Given the description of an element on the screen output the (x, y) to click on. 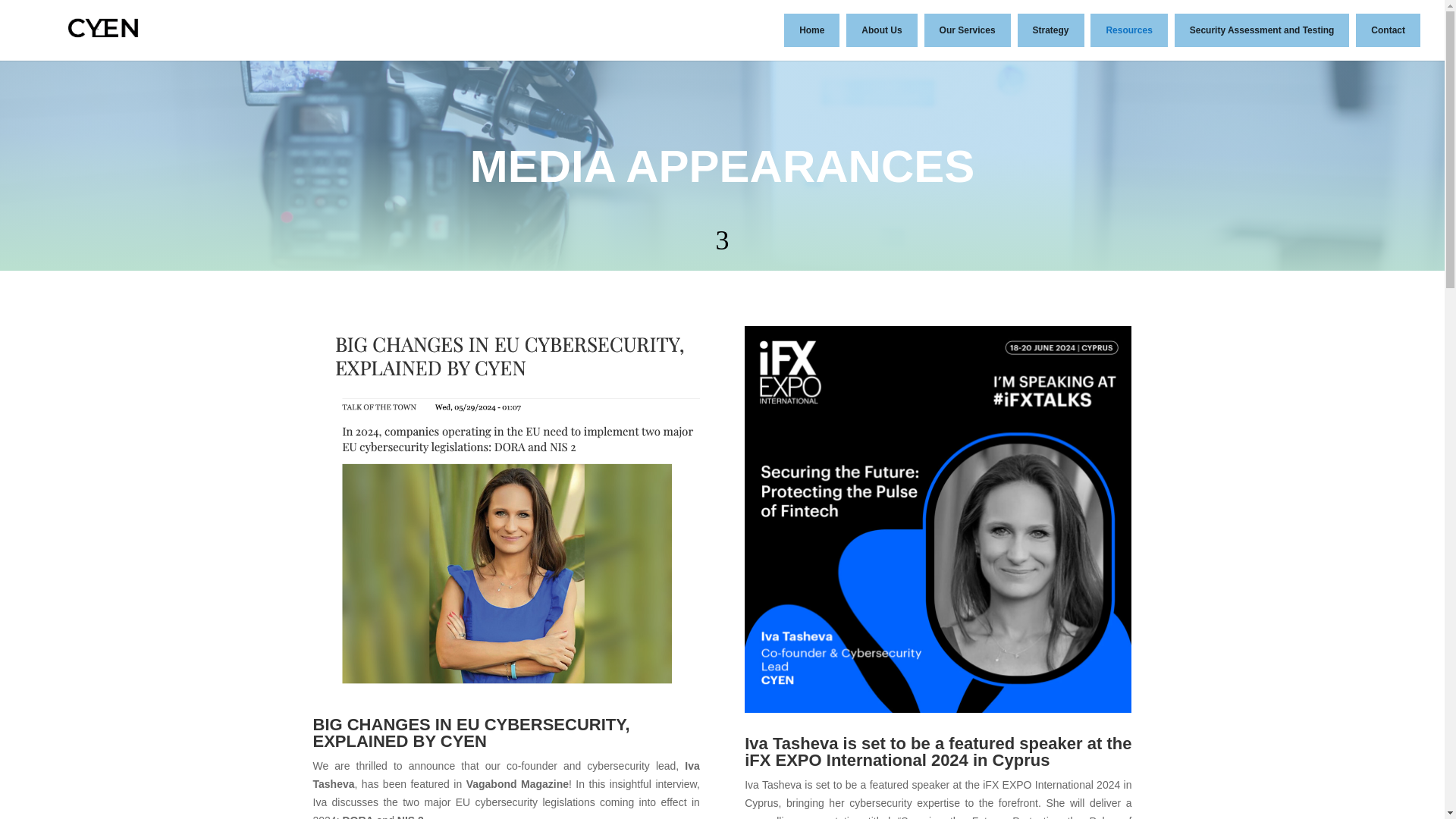
Security Assessment and Testing (1261, 29)
Resources (1128, 29)
Contact (1388, 29)
BIG CHANGES IN EU CYBERSECURITY, EXPLAINED BY CYEN (470, 732)
Our Services (967, 29)
Home (812, 29)
Strategy (1050, 29)
About Us (881, 29)
